Given the description of an element on the screen output the (x, y) to click on. 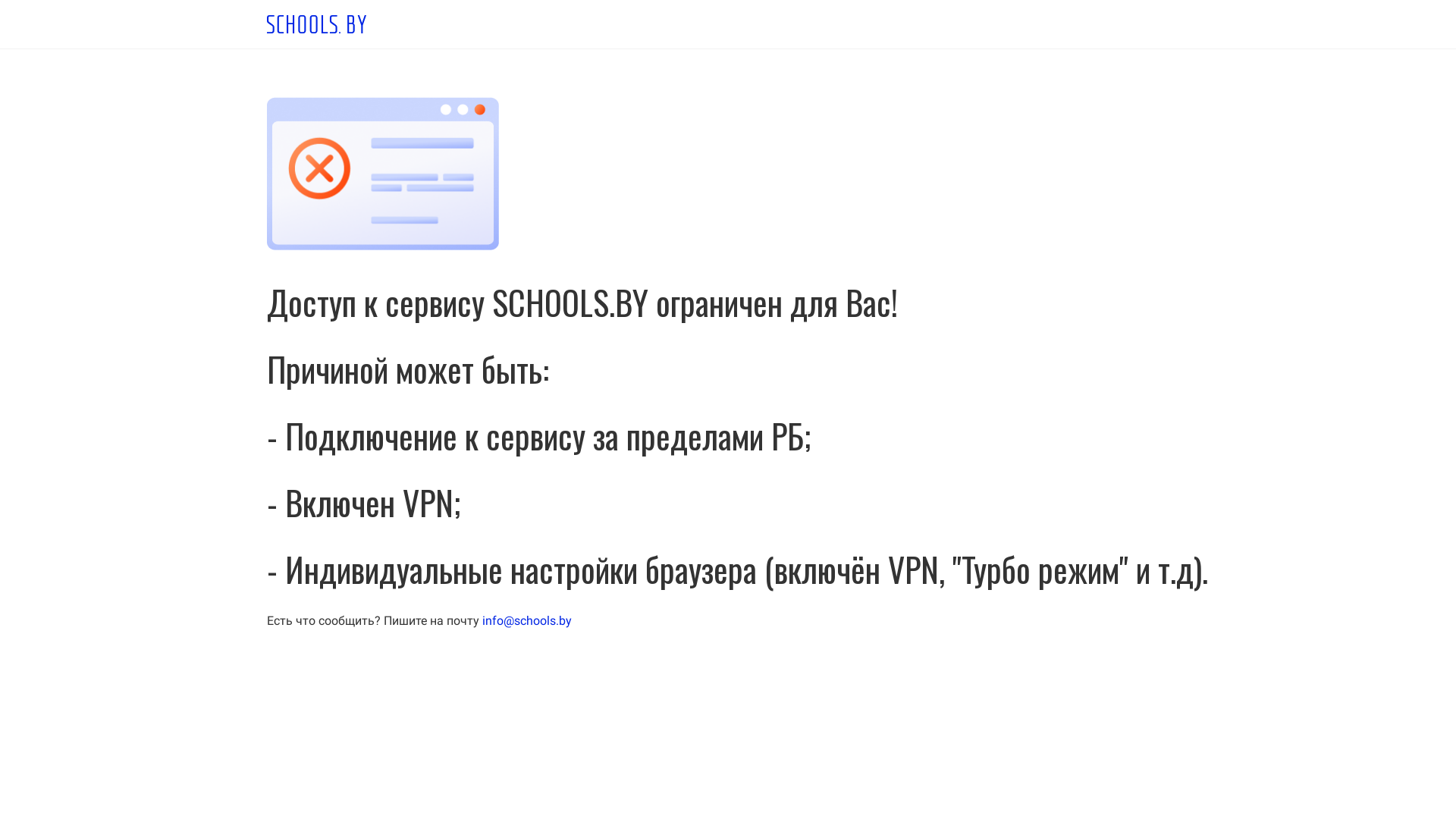
info@schools.by Element type: text (526, 620)
